Given the description of an element on the screen output the (x, y) to click on. 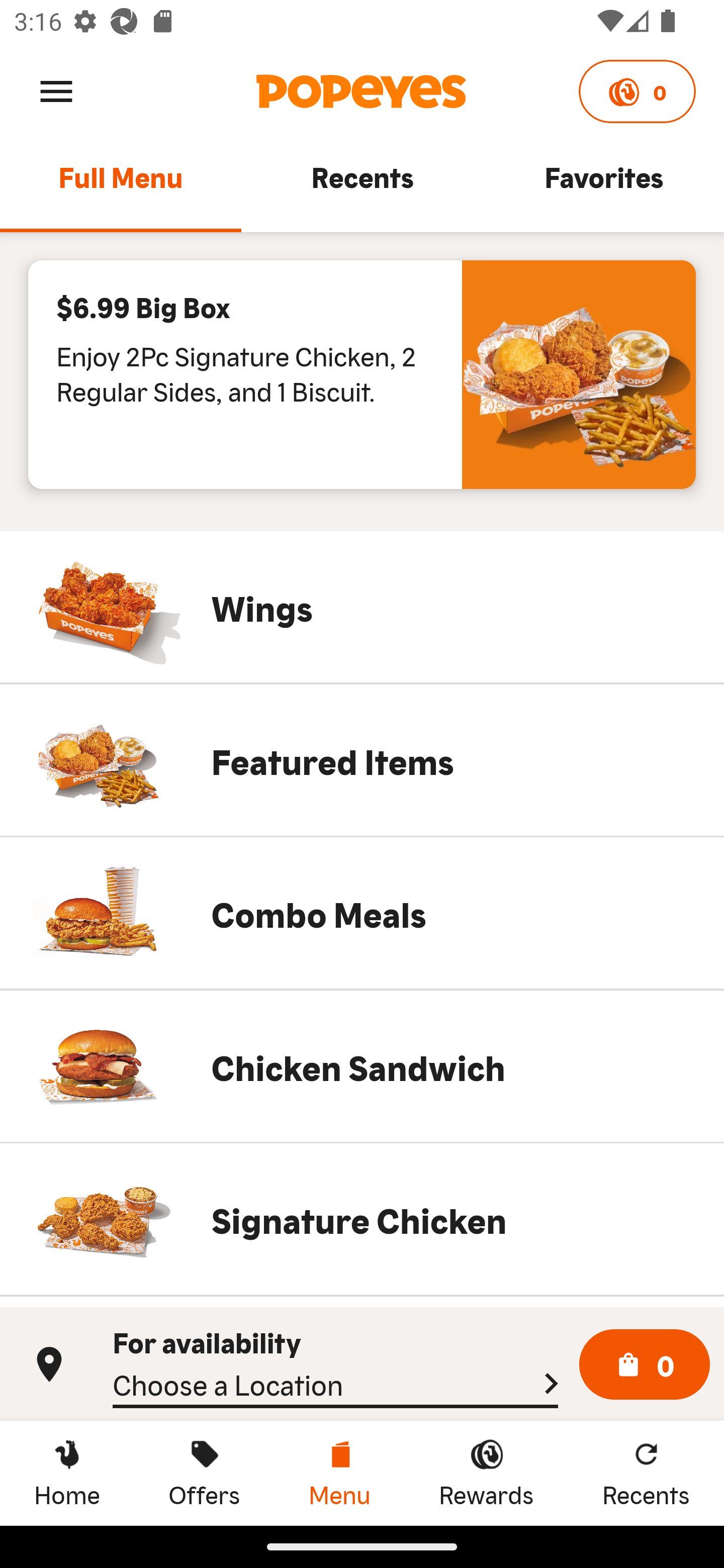
Menu  (56, 90)
0 Points 0 (636, 91)
Full Menu (120, 186)
Recents (361, 186)
Favorites (603, 186)
Wings, Wings Wings Wings (362, 606)
0 Cart total  0 (644, 1364)
Home Home Home (66, 1472)
Offers Offers Offers (203, 1472)
Menu, current page Menu Menu, current page (339, 1472)
Rewards Rewards Rewards (486, 1472)
Recents Recents Recents (646, 1472)
